Given the description of an element on the screen output the (x, y) to click on. 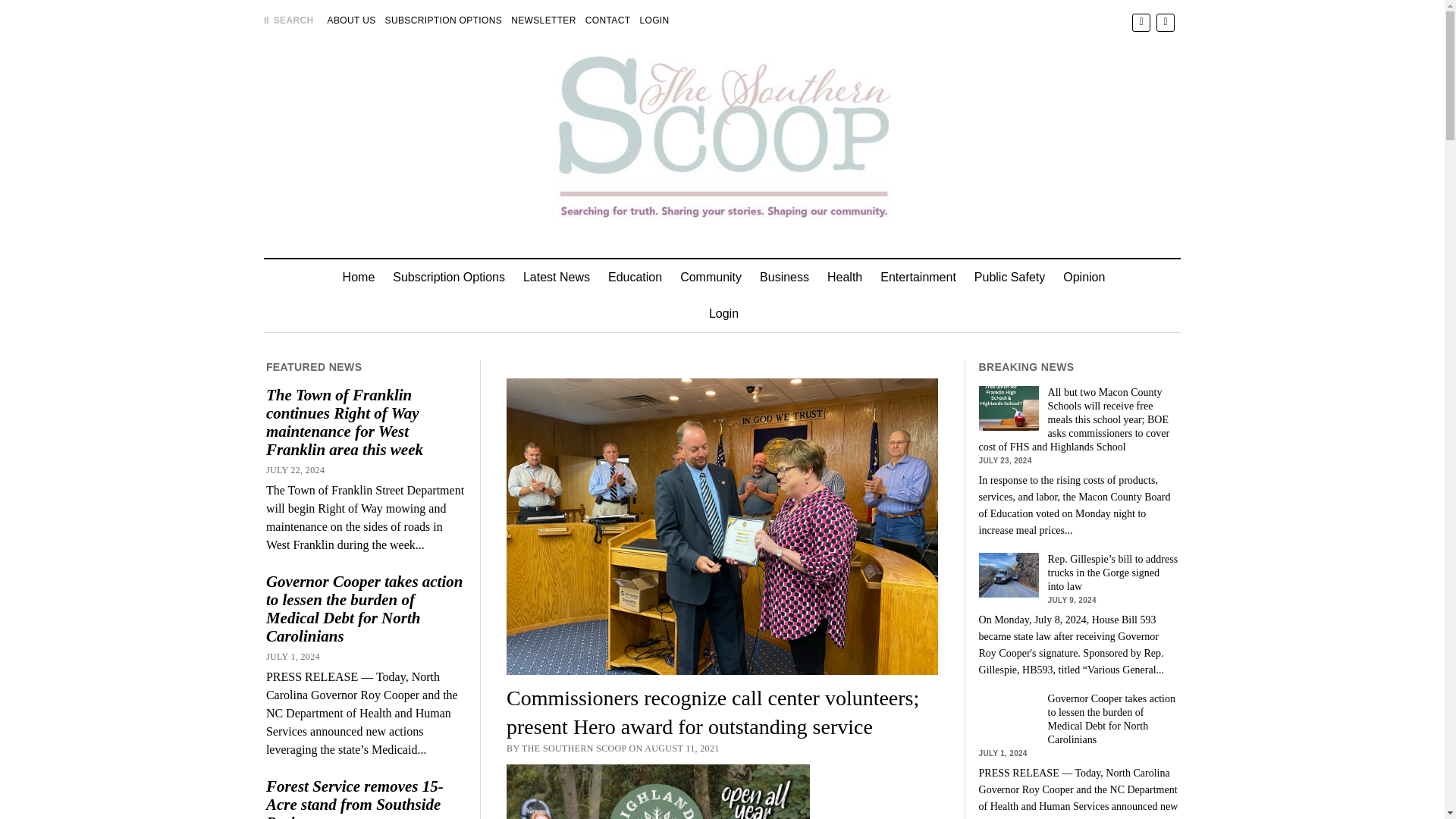
Entertainment (917, 277)
Forest Service removes 15-Acre stand from Southside Project (365, 798)
Community (711, 277)
Education (634, 277)
NEWSLETTER (543, 20)
Subscription Options (448, 277)
LOGIN (653, 20)
SUBSCRIPTION OPTIONS (443, 20)
Search (945, 129)
Latest News (555, 277)
Opinion (1083, 277)
Public Safety (1009, 277)
Home (358, 277)
CONTACT (607, 20)
